Given the description of an element on the screen output the (x, y) to click on. 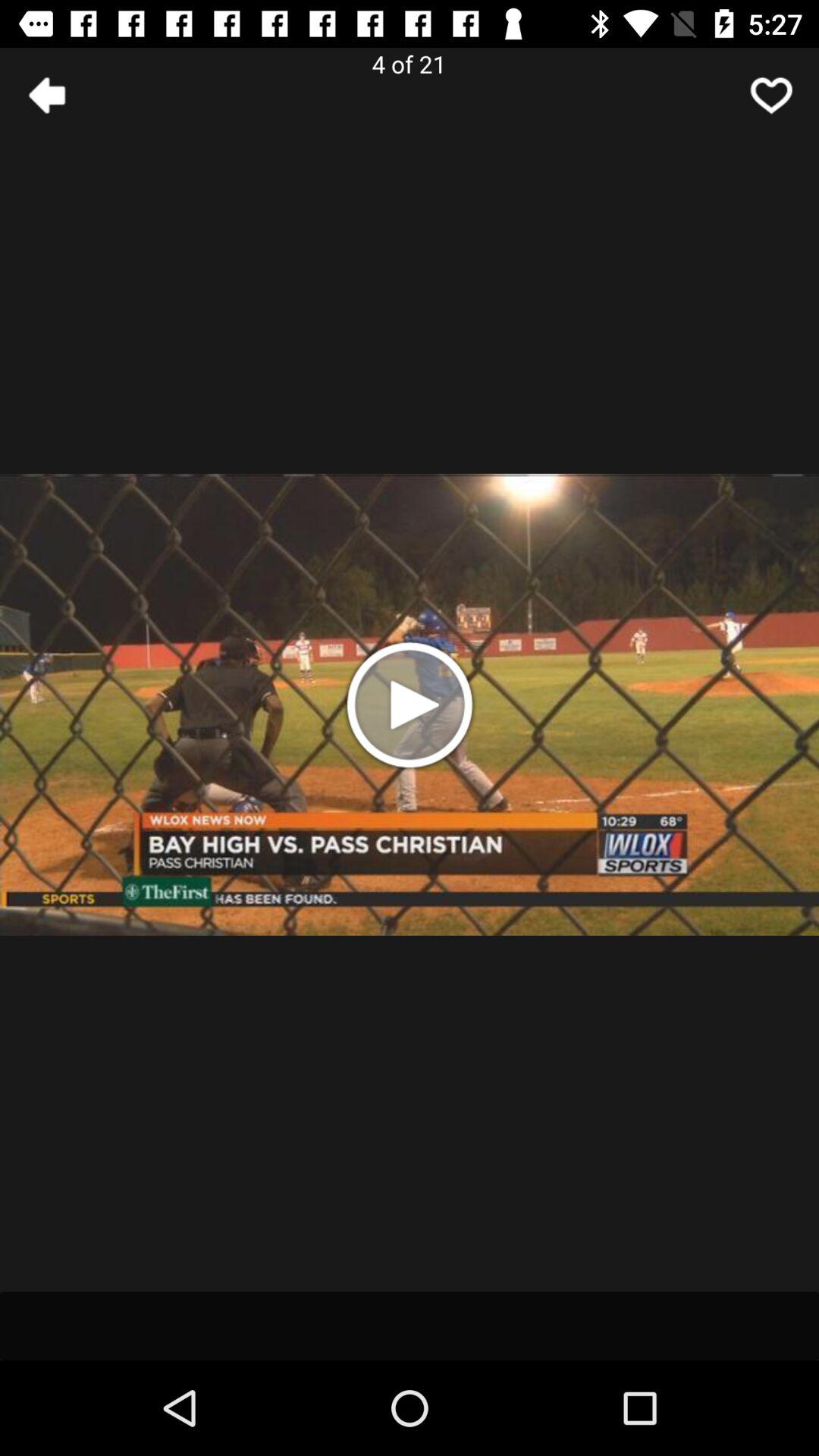
like (771, 95)
